Given the description of an element on the screen output the (x, y) to click on. 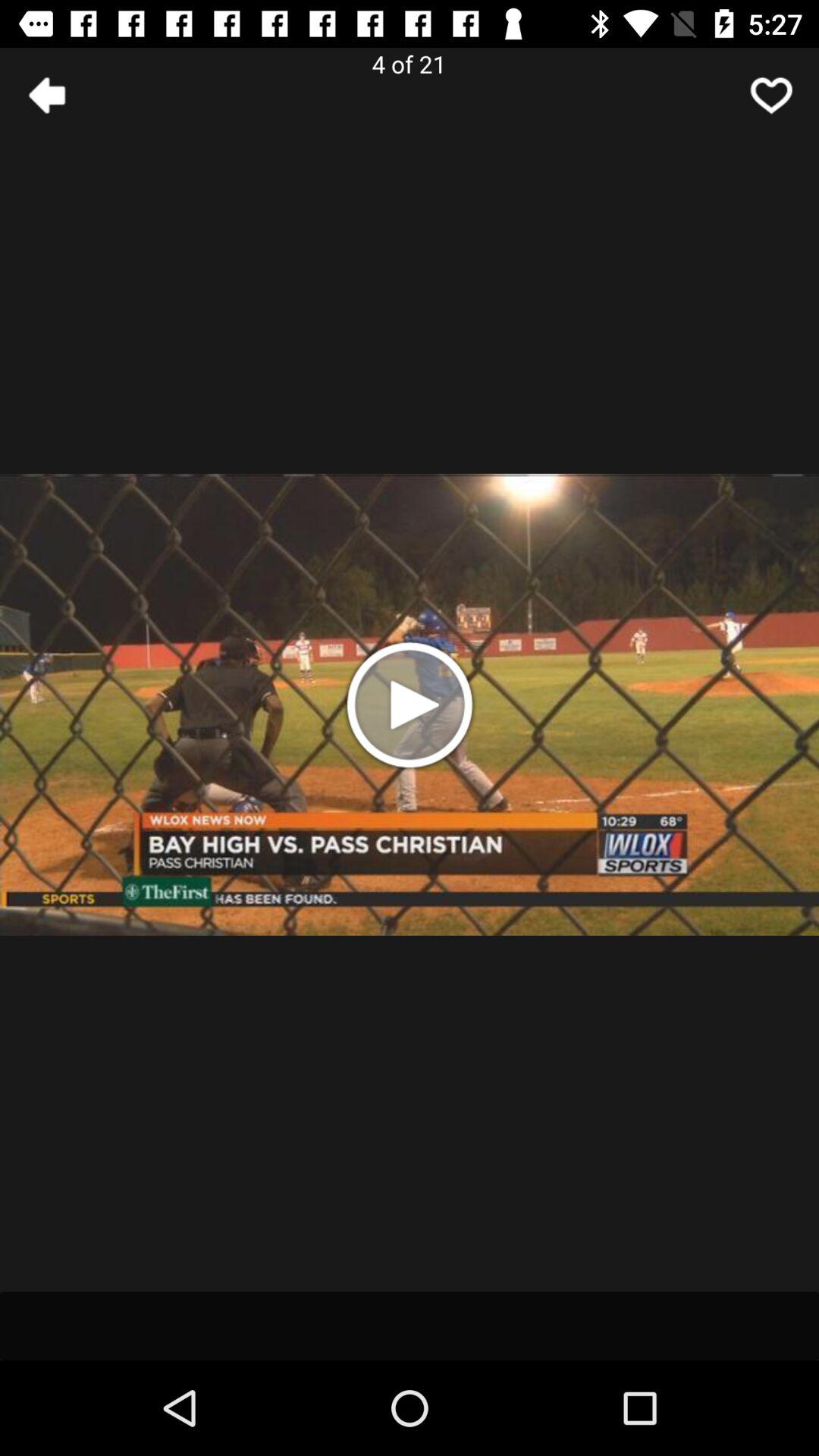
like (771, 95)
